Given the description of an element on the screen output the (x, y) to click on. 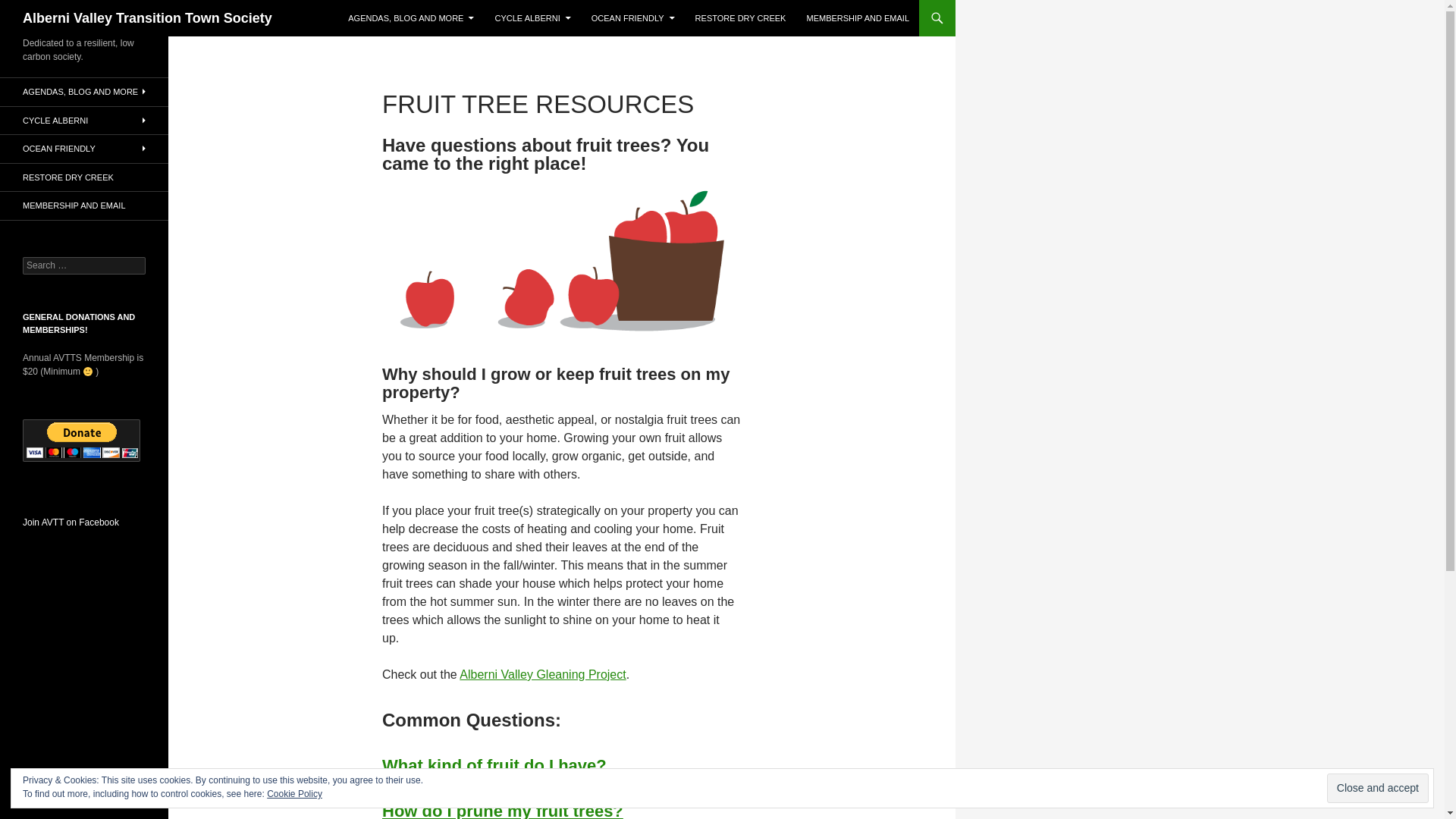
OCEAN FRIENDLY (633, 18)
What kind of fruit do I have? (494, 764)
PayPal - The safer, easier way to pay online! (81, 440)
Close and accept (1377, 788)
Alberni Valley Gleaning Project (543, 674)
AGENDAS, BLOG AND MORE (411, 18)
MEMBERSHIP AND EMAIL (857, 18)
RESTORE DRY CREEK (739, 18)
How do I prune my fruit trees? (502, 810)
CYCLE ALBERNI (532, 18)
Alberni Valley Transition Town Society (147, 18)
